Given the description of an element on the screen output the (x, y) to click on. 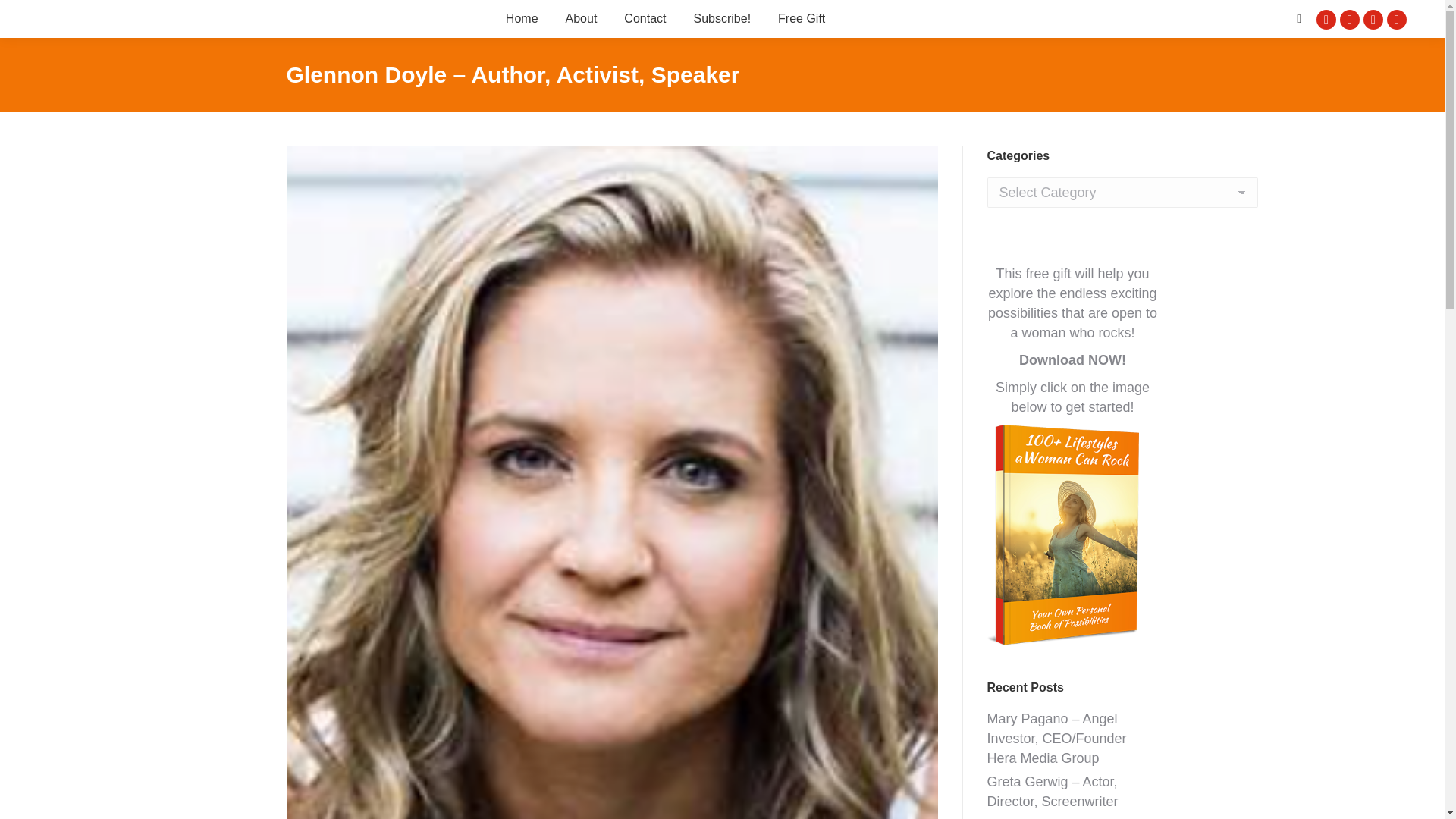
Facebook page opens in new window (1326, 18)
Free Gift (801, 18)
Pinterest page opens in new window (1396, 18)
Subscribe! (722, 18)
Home (521, 18)
About (580, 18)
Instagram page opens in new window (1372, 18)
Go! (24, 16)
Twitter page opens in new window (1349, 18)
Contact (644, 18)
Instagram page opens in new window (1372, 18)
Facebook page opens in new window (1326, 18)
Twitter page opens in new window (1349, 18)
Pinterest page opens in new window (1396, 18)
